Given the description of an element on the screen output the (x, y) to click on. 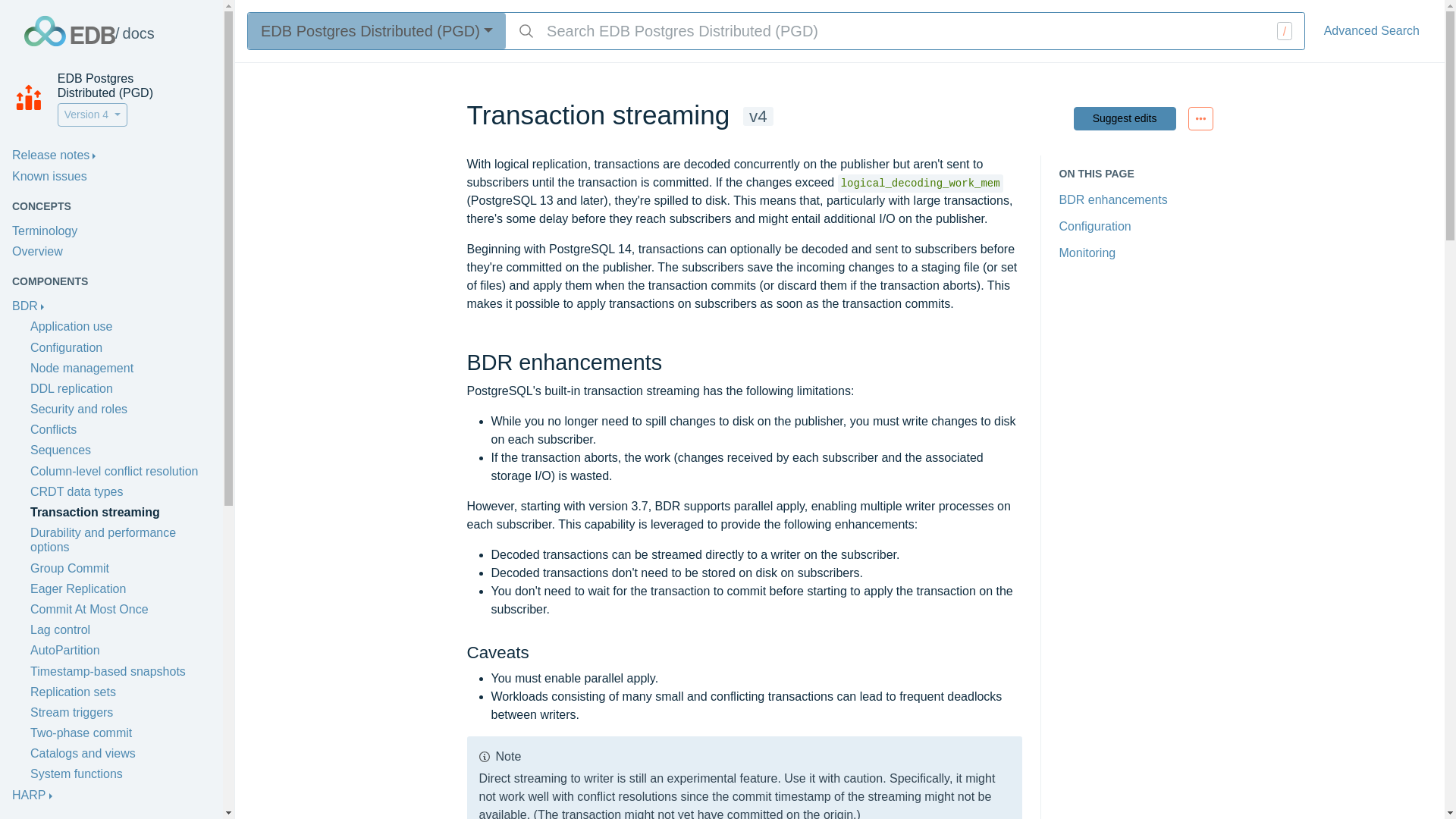
Release notes (53, 154)
Eager Replication (77, 588)
Group Commit (69, 567)
EDB Home (69, 30)
EDB Docs homepage (134, 30)
AutoPartition (65, 649)
Configuration (65, 346)
Timestamp-based snapshots (108, 670)
BDR (27, 305)
Lag control (60, 629)
Stream triggers (71, 711)
Replication sets (73, 691)
Version 4  (93, 114)
Two-phase commit (81, 732)
